Given the description of an element on the screen output the (x, y) to click on. 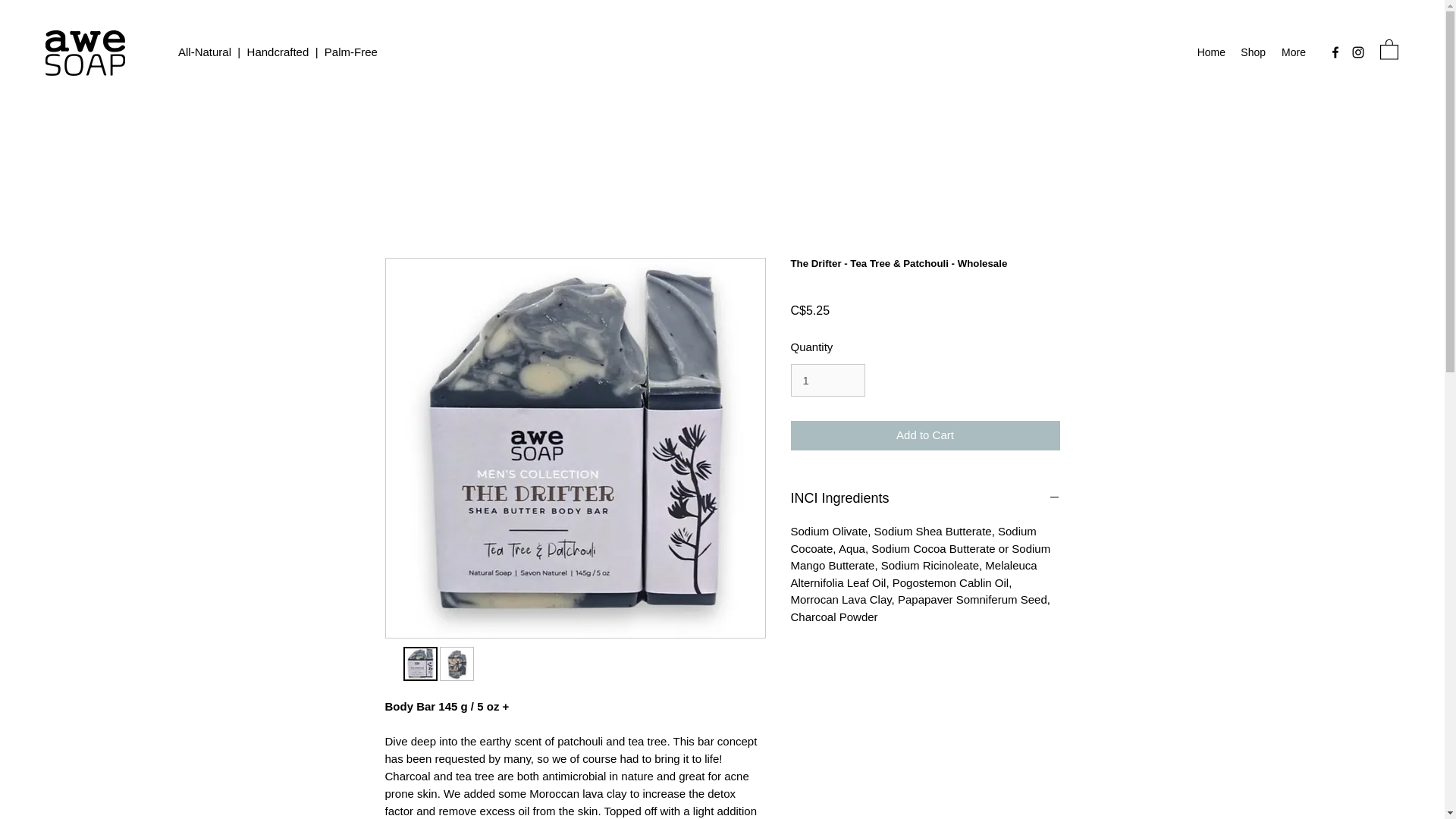
Shop (1252, 51)
1 (827, 380)
Home (1211, 51)
Add to Cart (924, 435)
INCI Ingredients (924, 498)
